Given the description of an element on the screen output the (x, y) to click on. 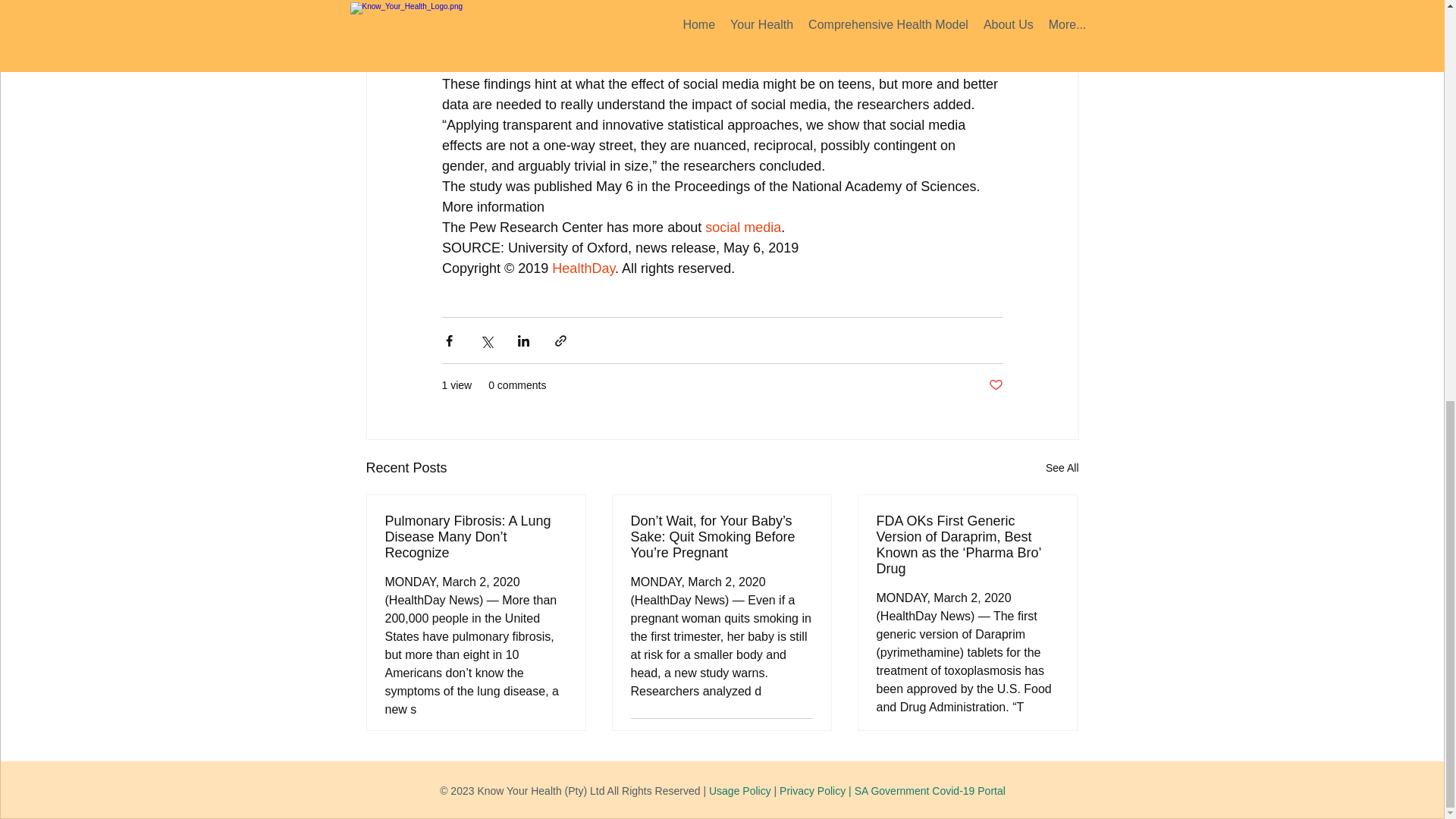
Post not marked as liked (804, 737)
SA Government Covid-19 Portal (930, 790)
Privacy Policy (811, 790)
Usage Policy (740, 790)
social media (742, 227)
HealthDay (582, 268)
Post not marked as liked (995, 385)
See All (1061, 468)
